Given the description of an element on the screen output the (x, y) to click on. 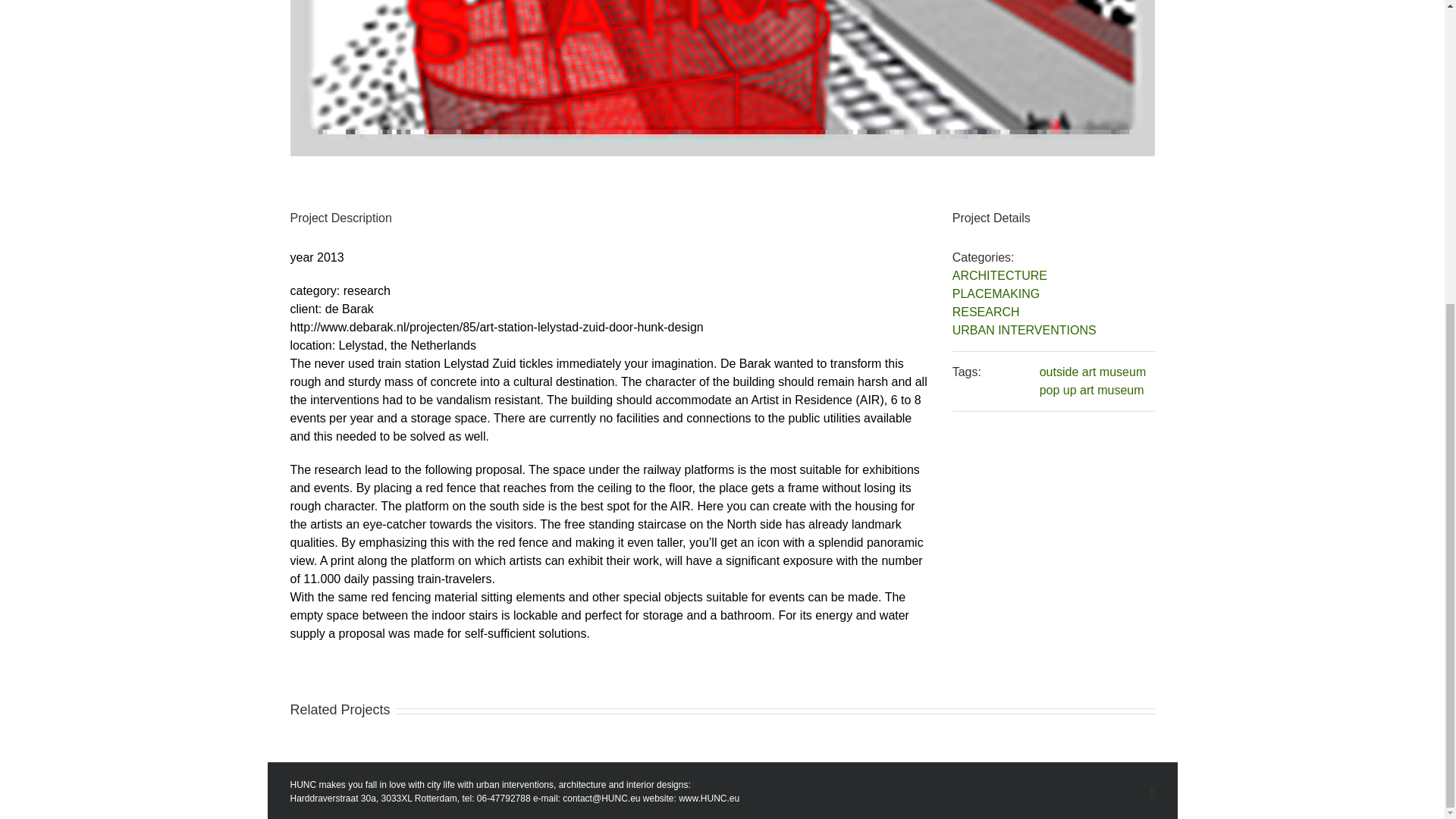
pop up art museum (1091, 390)
RESEARCH (986, 311)
URBAN INTERVENTIONS (1024, 329)
PLACEMAKING (996, 293)
ARCHITECTURE (999, 275)
outside art museum (1093, 371)
